Given the description of an element on the screen output the (x, y) to click on. 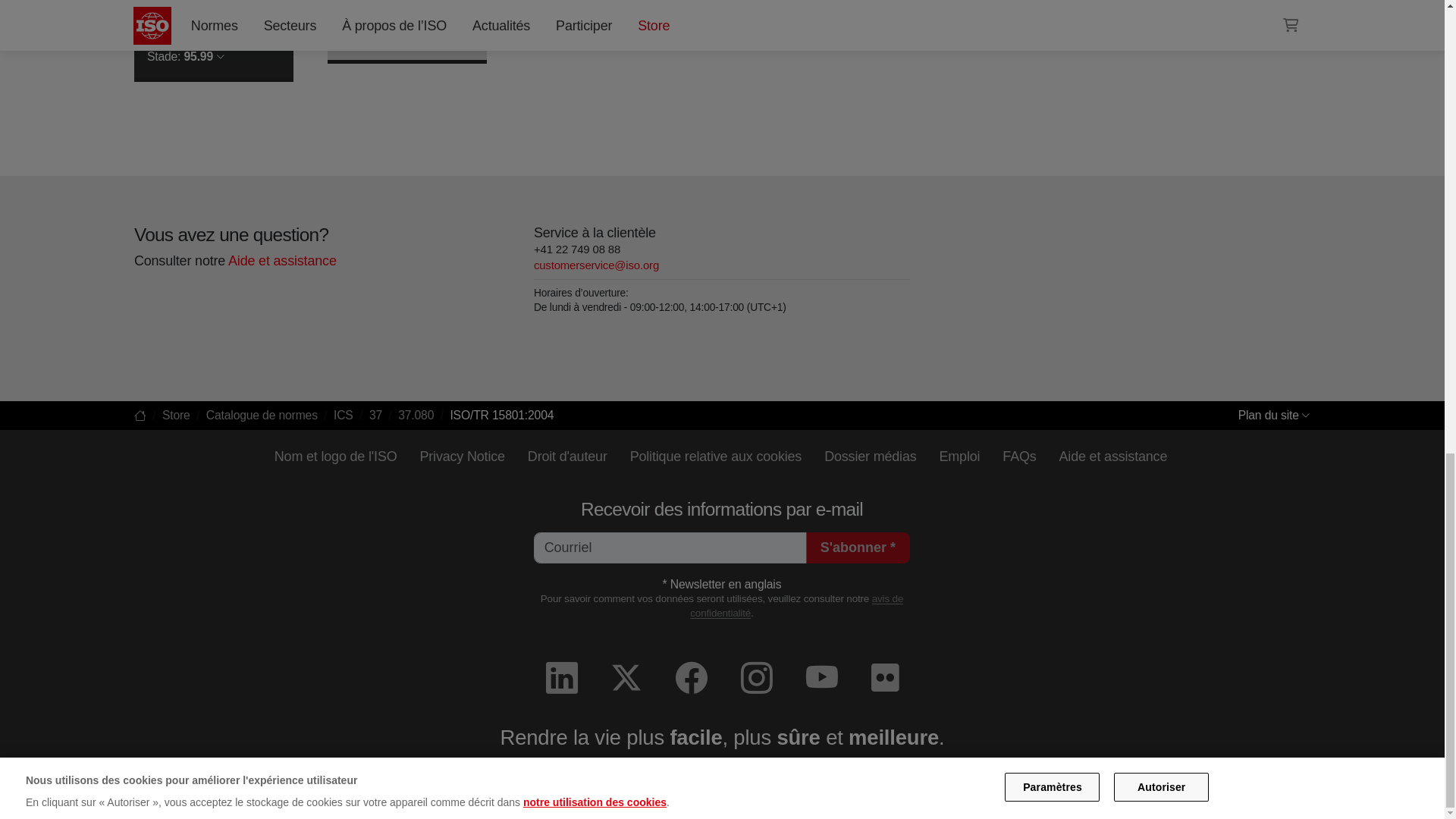
Stade: 95.99 (185, 56)
help-support (281, 260)
